Given the description of an element on the screen output the (x, y) to click on. 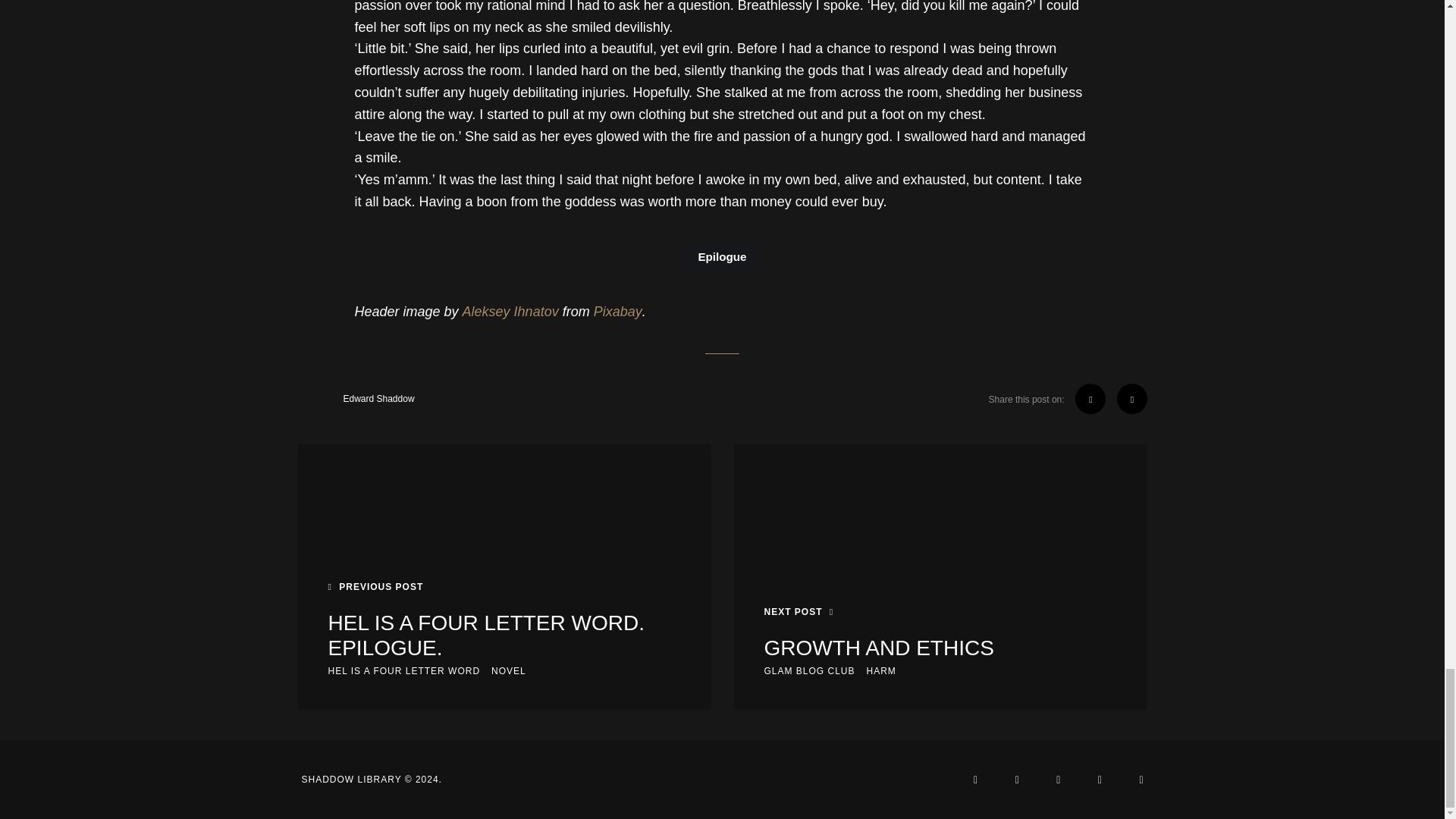
Aleksey Ihnatov (511, 311)
Pixabay (618, 311)
Edward Shaddow (355, 399)
Epilogue (722, 257)
